Given the description of an element on the screen output the (x, y) to click on. 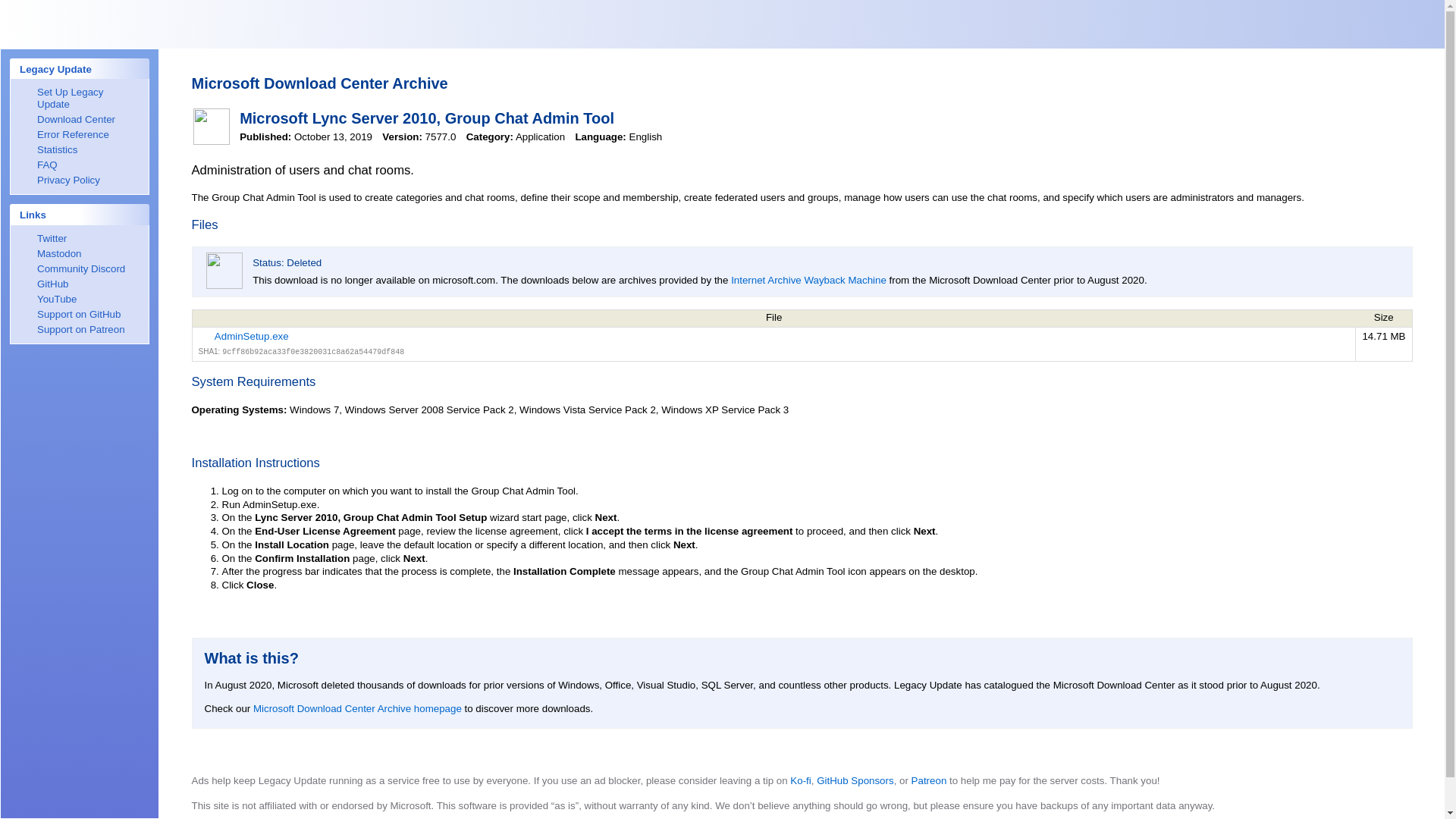
Support on Patreon (79, 329)
Twitter (79, 238)
Mastodon (79, 254)
15,424,068 bytes (1383, 336)
Patreon (929, 780)
Download Center (79, 119)
YouTube (79, 299)
Microsoft Download Center Archive (318, 83)
GitHub (79, 284)
FAQ (79, 164)
